Given the description of an element on the screen output the (x, y) to click on. 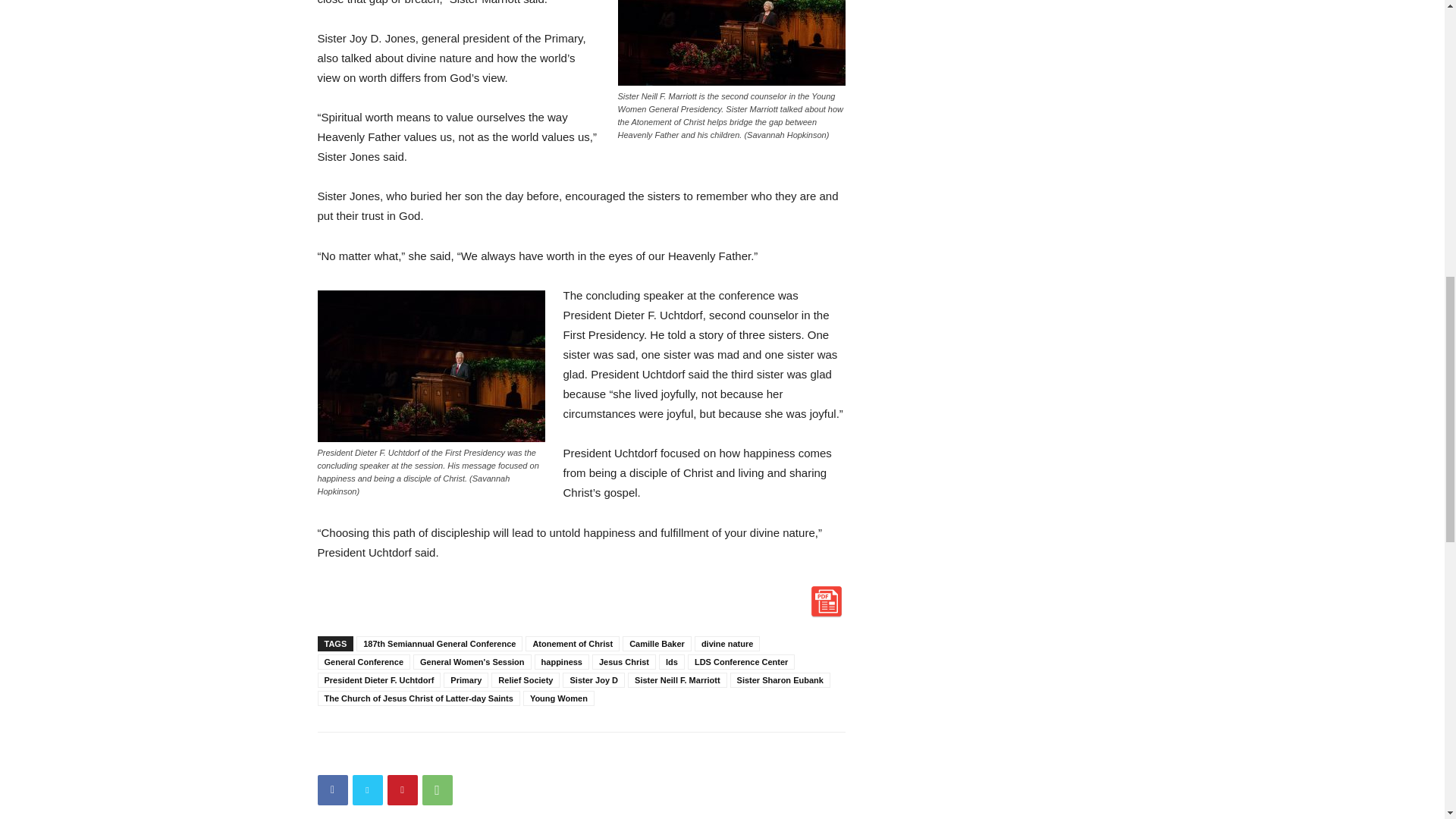
Facebook (332, 789)
Twitter (366, 789)
WhatsApp (436, 789)
Pinterest (401, 789)
